Given the description of an element on the screen output the (x, y) to click on. 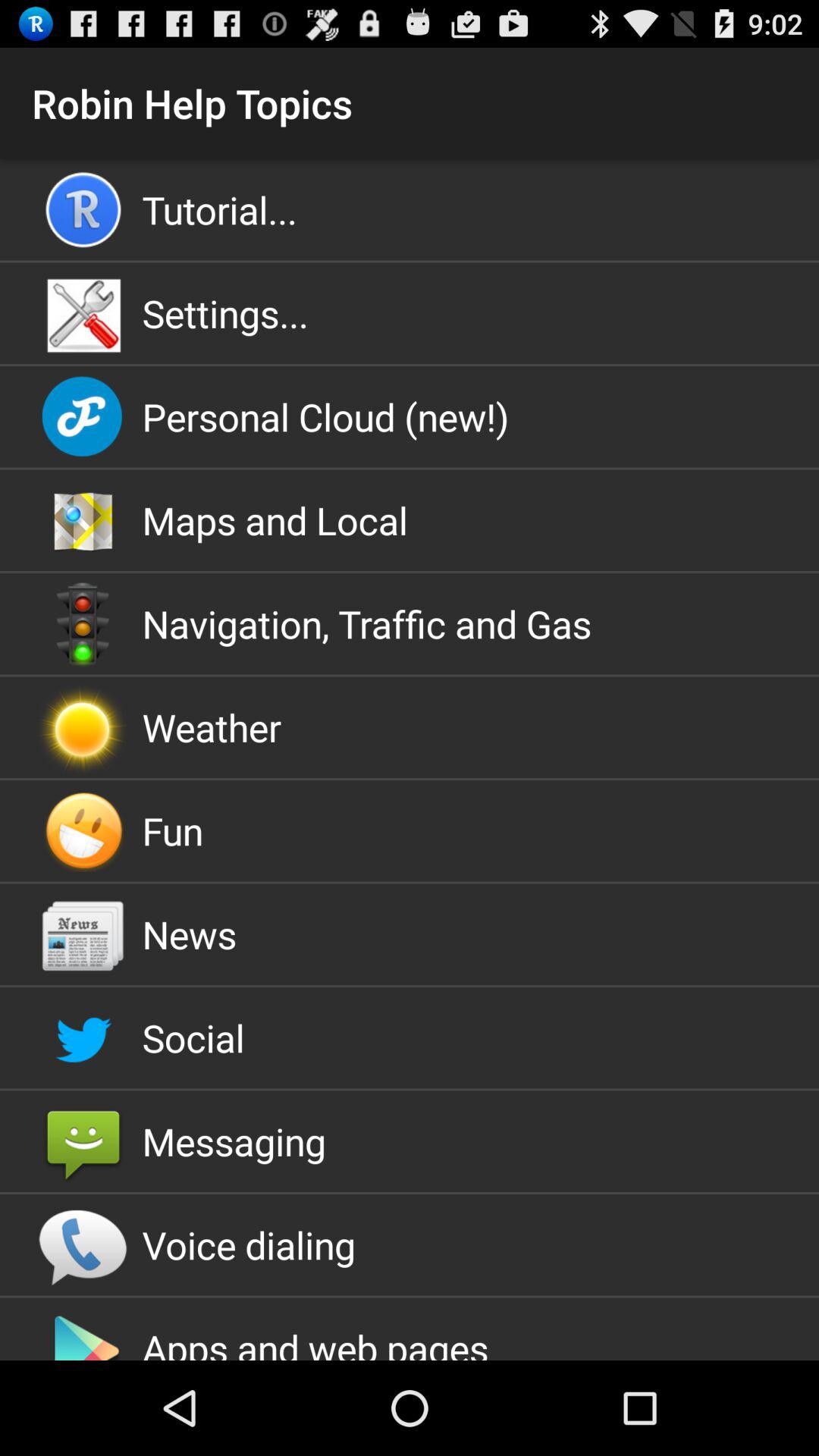
press the  settings... icon (409, 313)
